Given the description of an element on the screen output the (x, y) to click on. 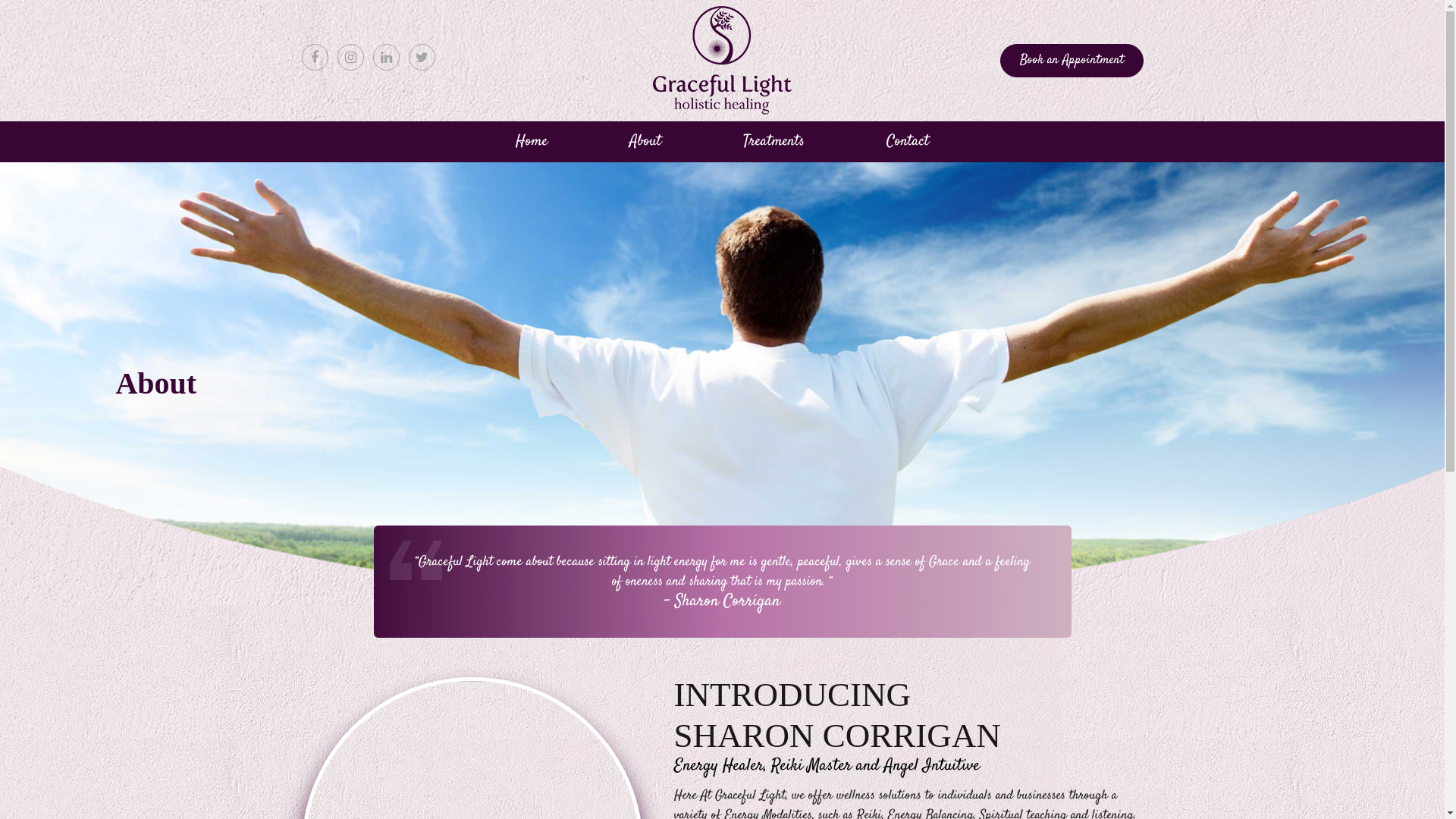
About Element type: text (645, 141)
Home Element type: text (531, 141)
Book an Appointment Element type: text (1070, 60)
Treatments Element type: text (773, 141)
Contact Element type: text (907, 141)
